Given the description of an element on the screen output the (x, y) to click on. 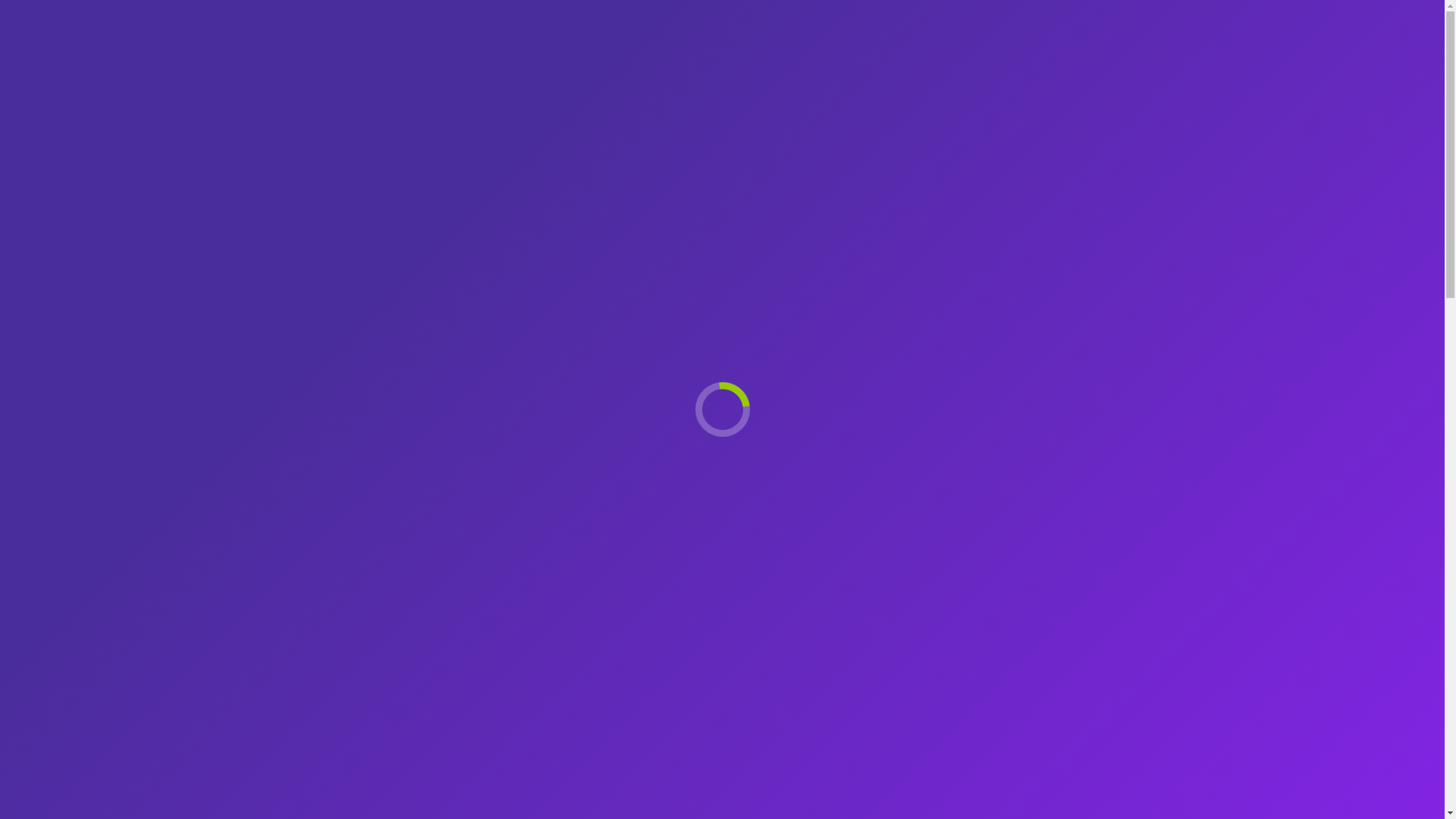
Cloud Phone Features (729, 52)
VoIP Phone System (563, 52)
Go! (27, 16)
FAQ (1007, 52)
About VoIP Express (896, 52)
Contact us (1093, 52)
